Given the description of an element on the screen output the (x, y) to click on. 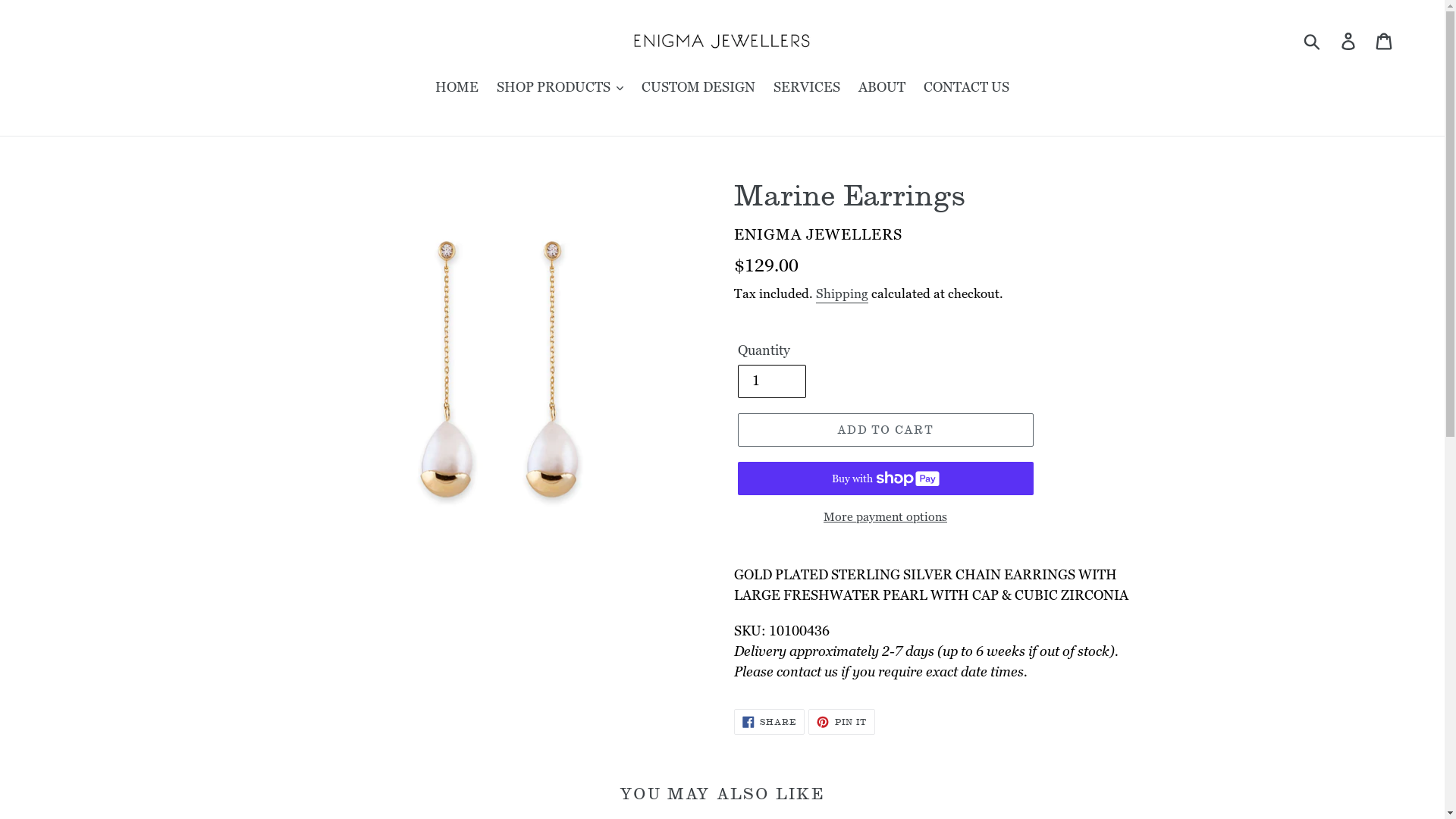
Submit Element type: text (1312, 40)
HOME Element type: text (456, 88)
More payment options Element type: text (884, 517)
ABOUT Element type: text (881, 88)
CUSTOM DESIGN Element type: text (697, 88)
PIN IT
PIN ON PINTEREST Element type: text (841, 721)
Shipping Element type: text (841, 294)
CONTACT US Element type: text (966, 88)
Cart Element type: text (1384, 40)
ADD TO CART Element type: text (884, 429)
Log in Element type: text (1349, 40)
SERVICES Element type: text (806, 88)
SHARE
SHARE ON FACEBOOK Element type: text (769, 721)
